Given the description of an element on the screen output the (x, y) to click on. 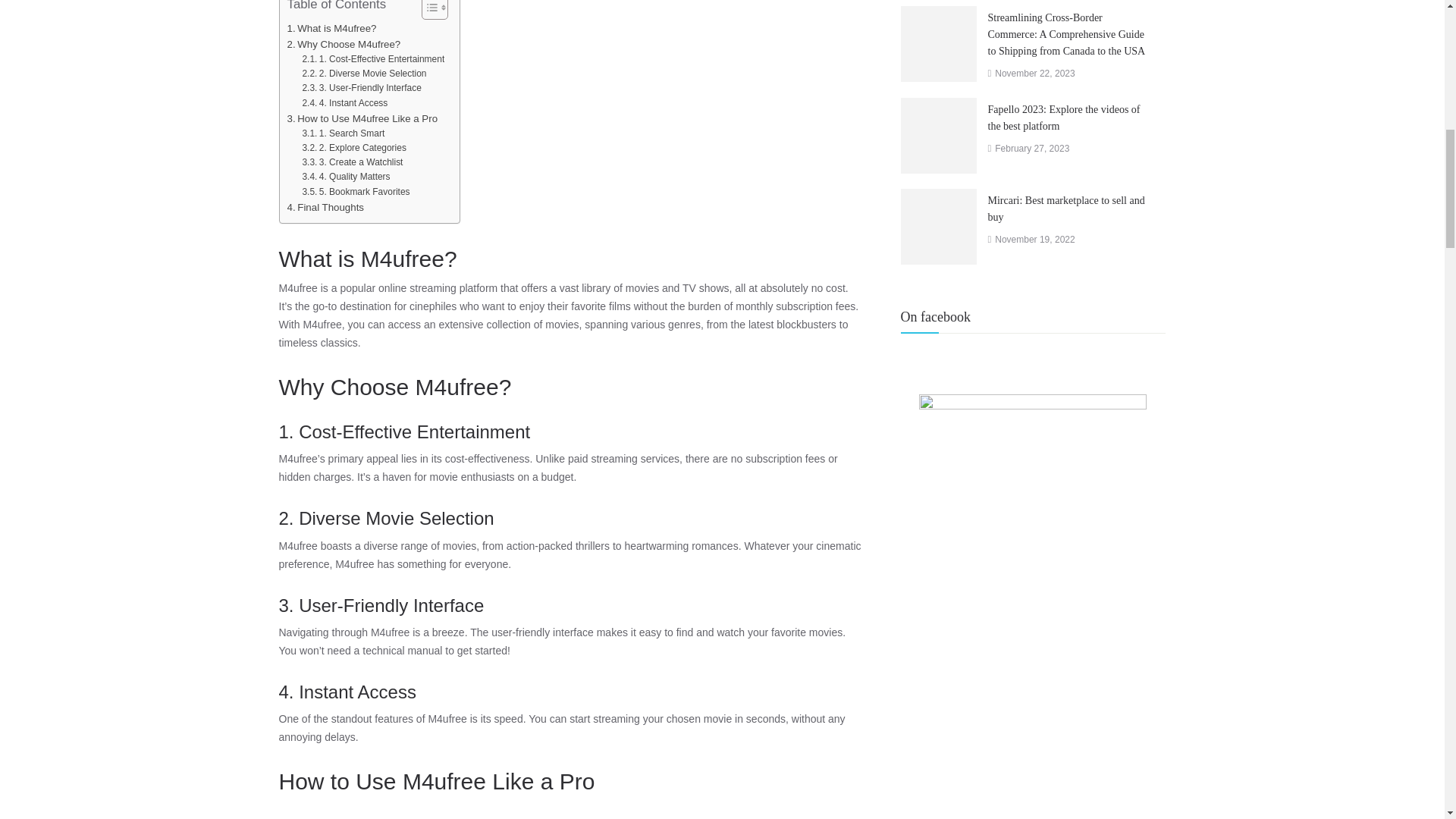
What is M4ufree? (330, 28)
4. Instant Access (344, 103)
4. Quality Matters (345, 176)
Why Choose M4ufree? (343, 44)
3. User-Friendly Interface (360, 88)
2. Diverse Movie Selection (363, 73)
1. Search Smart (342, 133)
3. Create a Watchlist (352, 162)
Final Thoughts (324, 207)
1. Cost-Effective Entertainment (372, 59)
How to Use M4ufree Like a Pro (362, 118)
5. Bookmark Favorites (355, 192)
2. Explore Categories (353, 148)
